Given the description of an element on the screen output the (x, y) to click on. 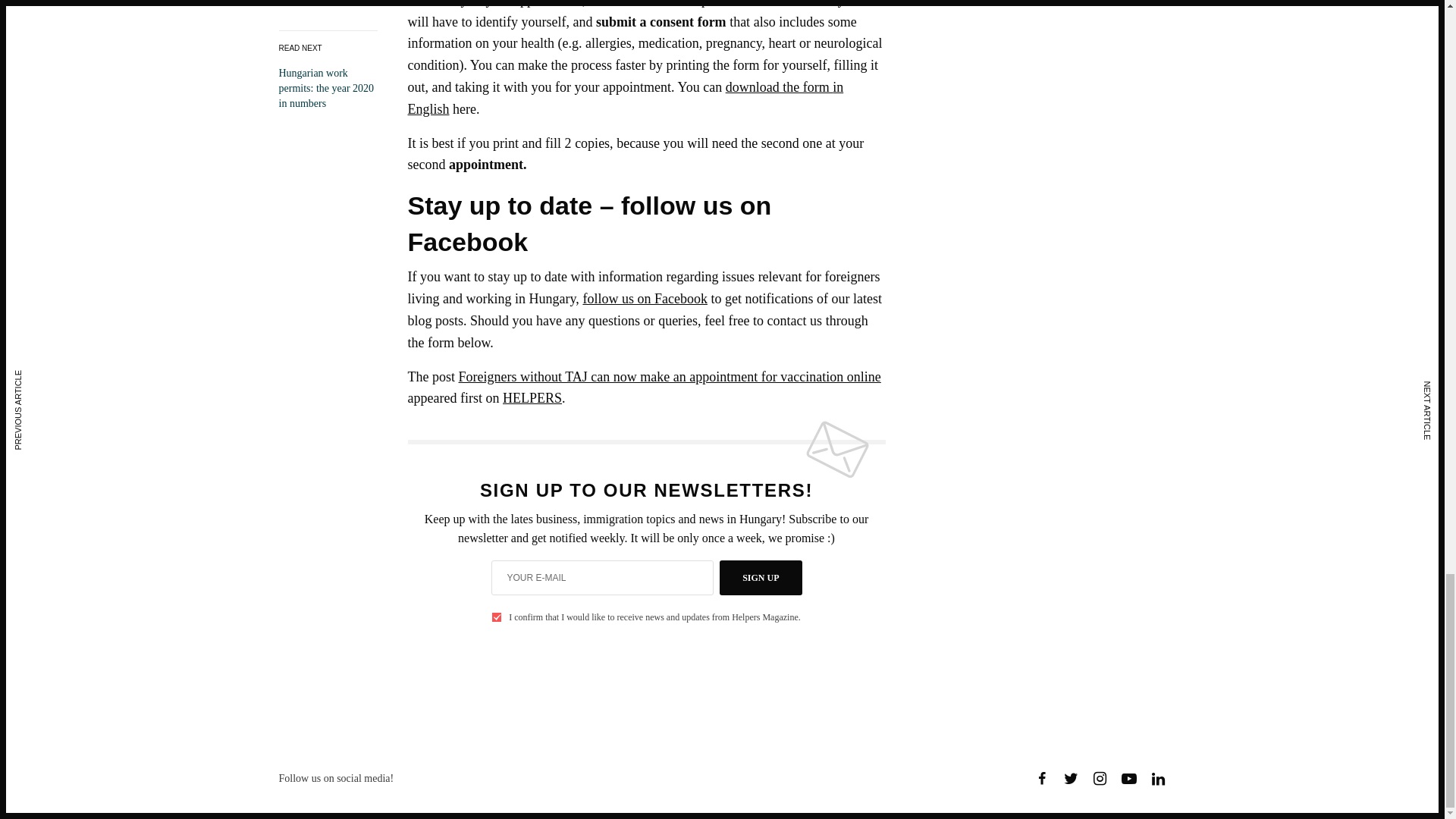
follow us on Facebook (644, 298)
in English (625, 98)
download the form (778, 87)
